Given the description of an element on the screen output the (x, y) to click on. 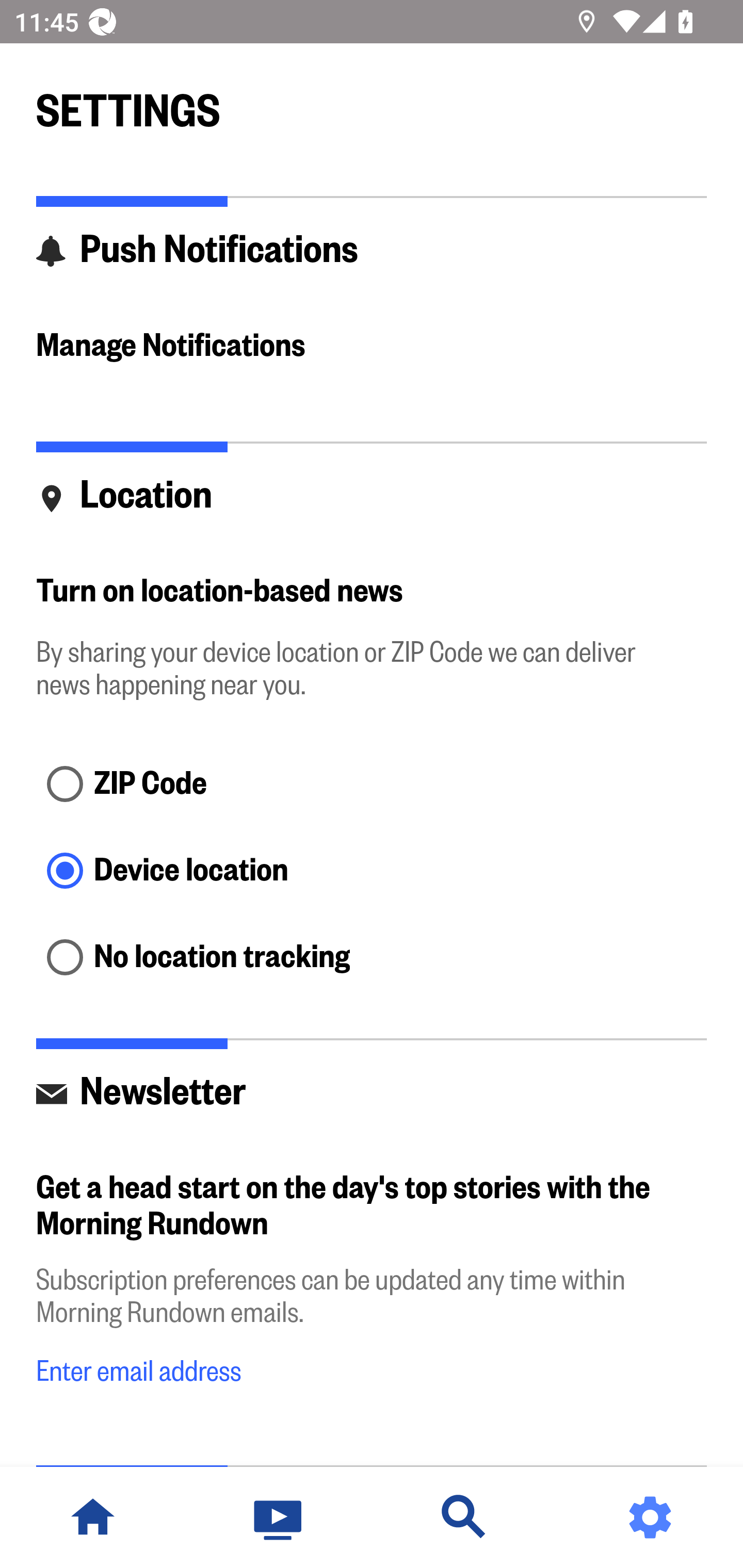
SETTINGS (371, 101)
Manage Notifications (371, 346)
ZIP Code (371, 785)
Device location (371, 872)
No location tracking (371, 958)
NBC News Home (92, 1517)
Watch (278, 1517)
Discover (464, 1517)
